Given the description of an element on the screen output the (x, y) to click on. 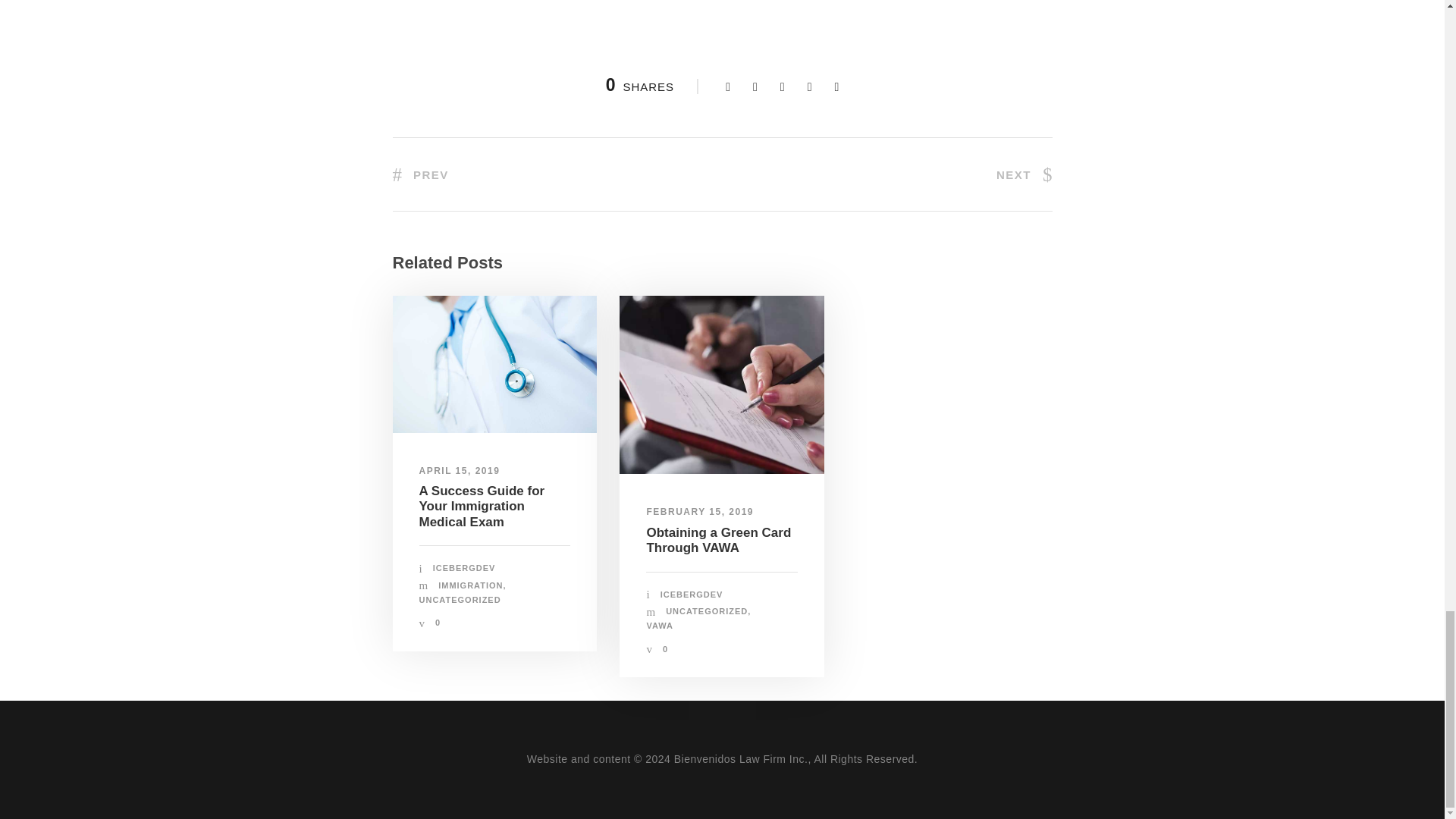
NEXT (1023, 173)
Posts by icebergdev (464, 567)
Posts by icebergdev (692, 593)
IMMIGRATION (470, 584)
ICEBERGDEV (464, 567)
UNCATEGORIZED (459, 599)
FEBRUARY 15, 2019 (700, 511)
naturalization (722, 384)
APRIL 15, 2019 (459, 470)
bien (494, 363)
